Given the description of an element on the screen output the (x, y) to click on. 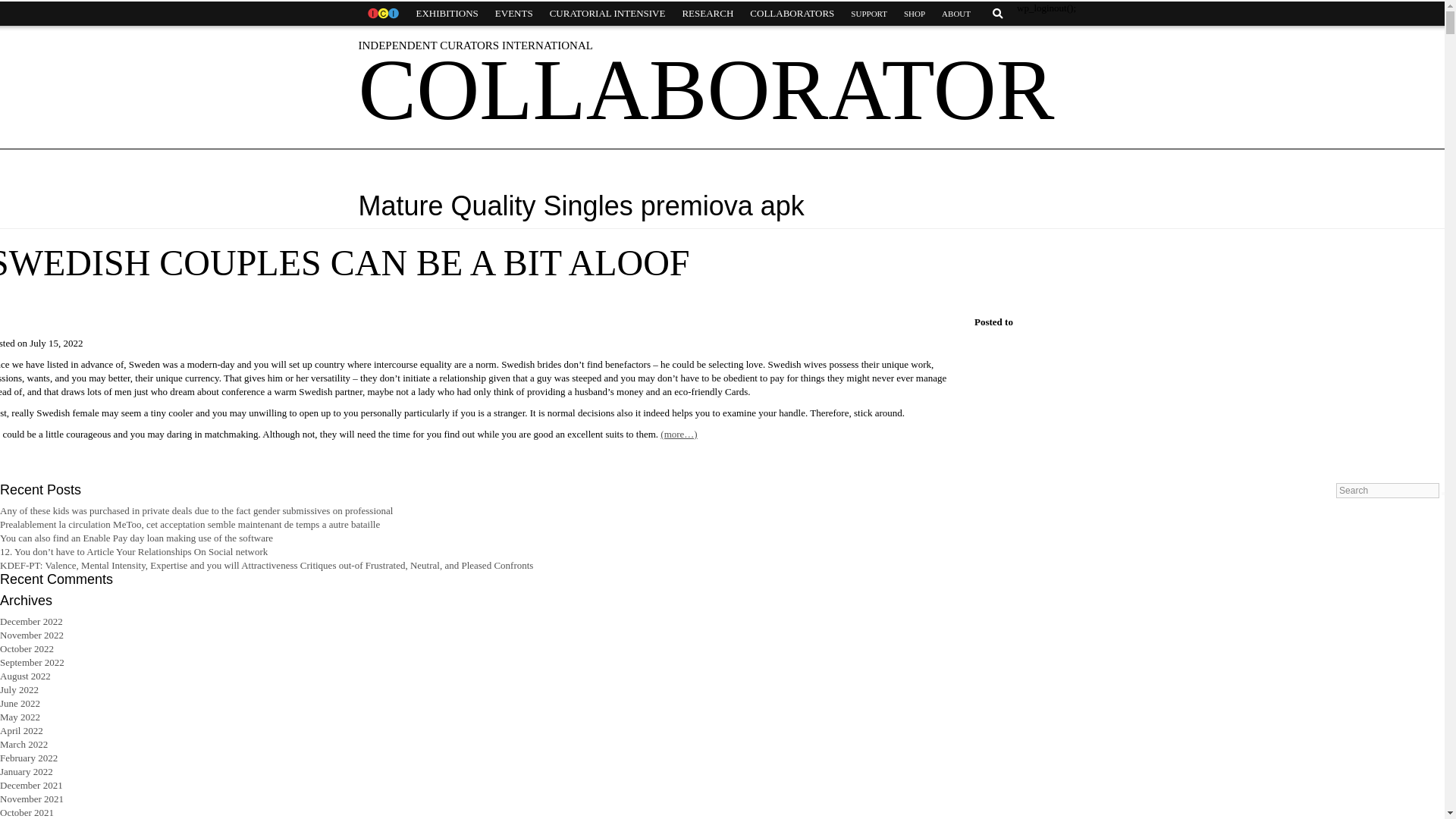
CURATORIAL INTENSIVE (607, 13)
RESEARCH (706, 13)
HOME (382, 13)
COLLABORATORS (792, 13)
EXHIBITIONS (446, 13)
EVENTS (513, 13)
